Given the description of an element on the screen output the (x, y) to click on. 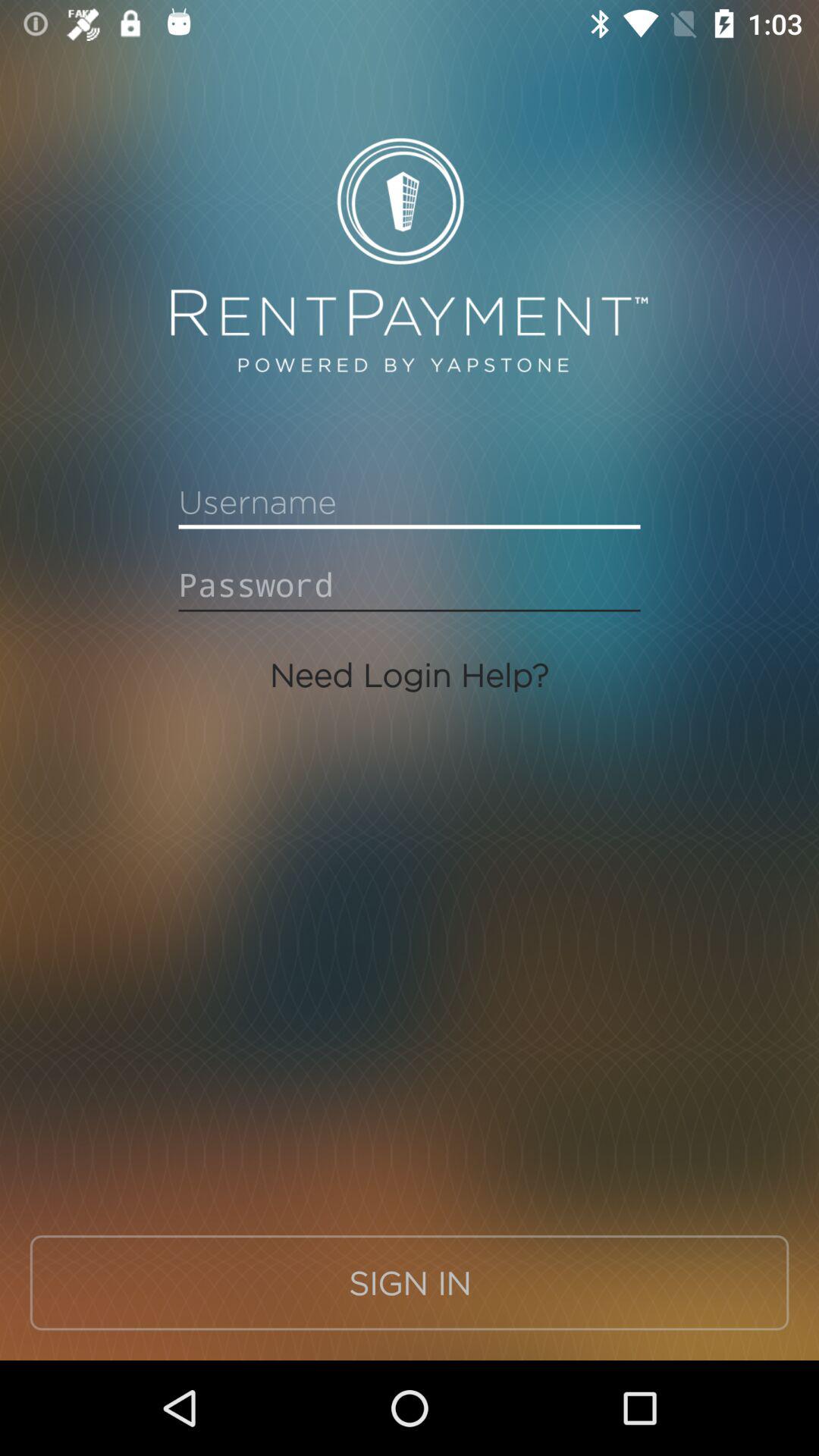
enter password (409, 584)
